Given the description of an element on the screen output the (x, y) to click on. 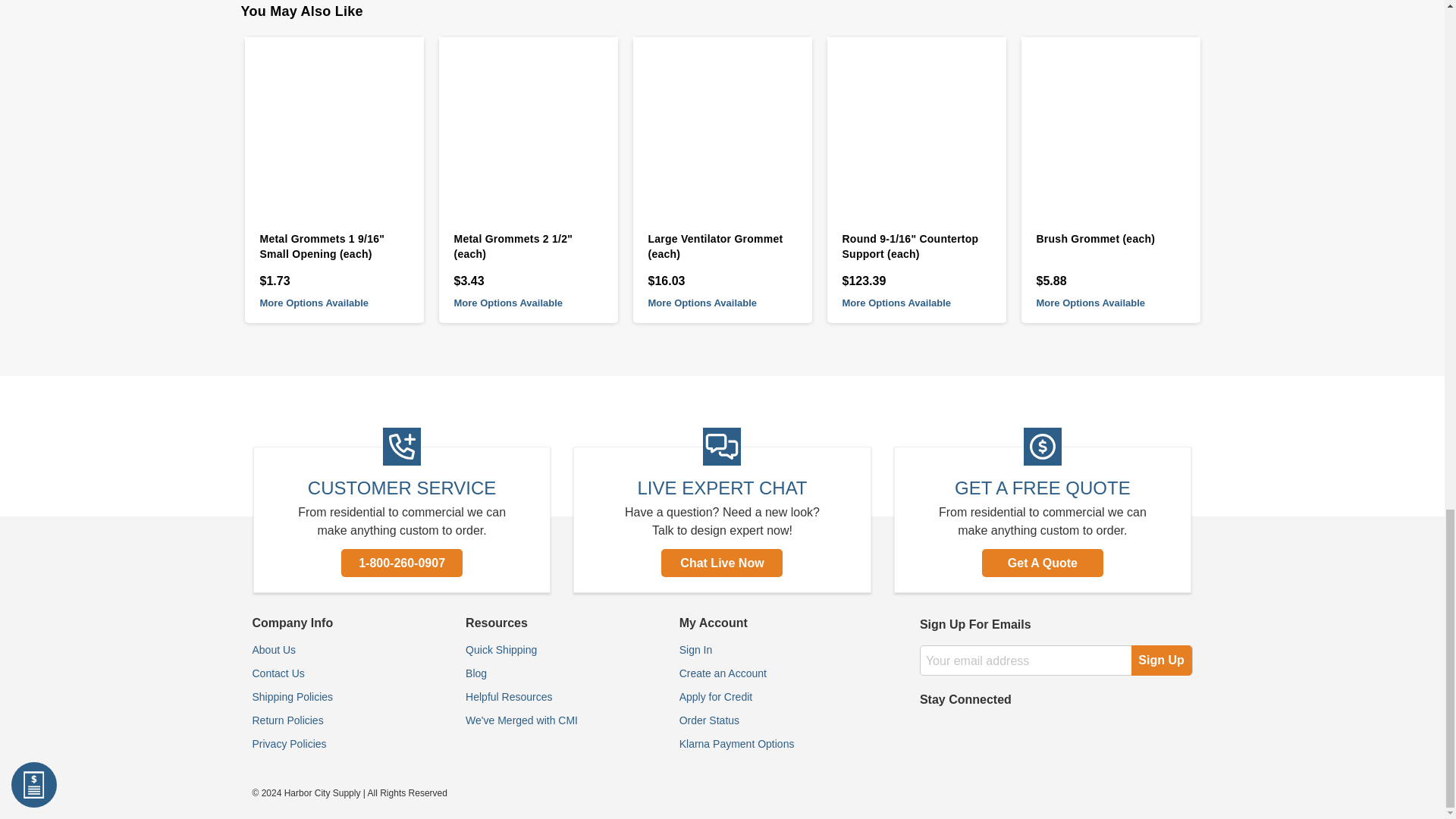
Brush Grommet (1109, 126)
Sign Up (1161, 660)
Large Ventilator Grommet (720, 126)
